Given the description of an element on the screen output the (x, y) to click on. 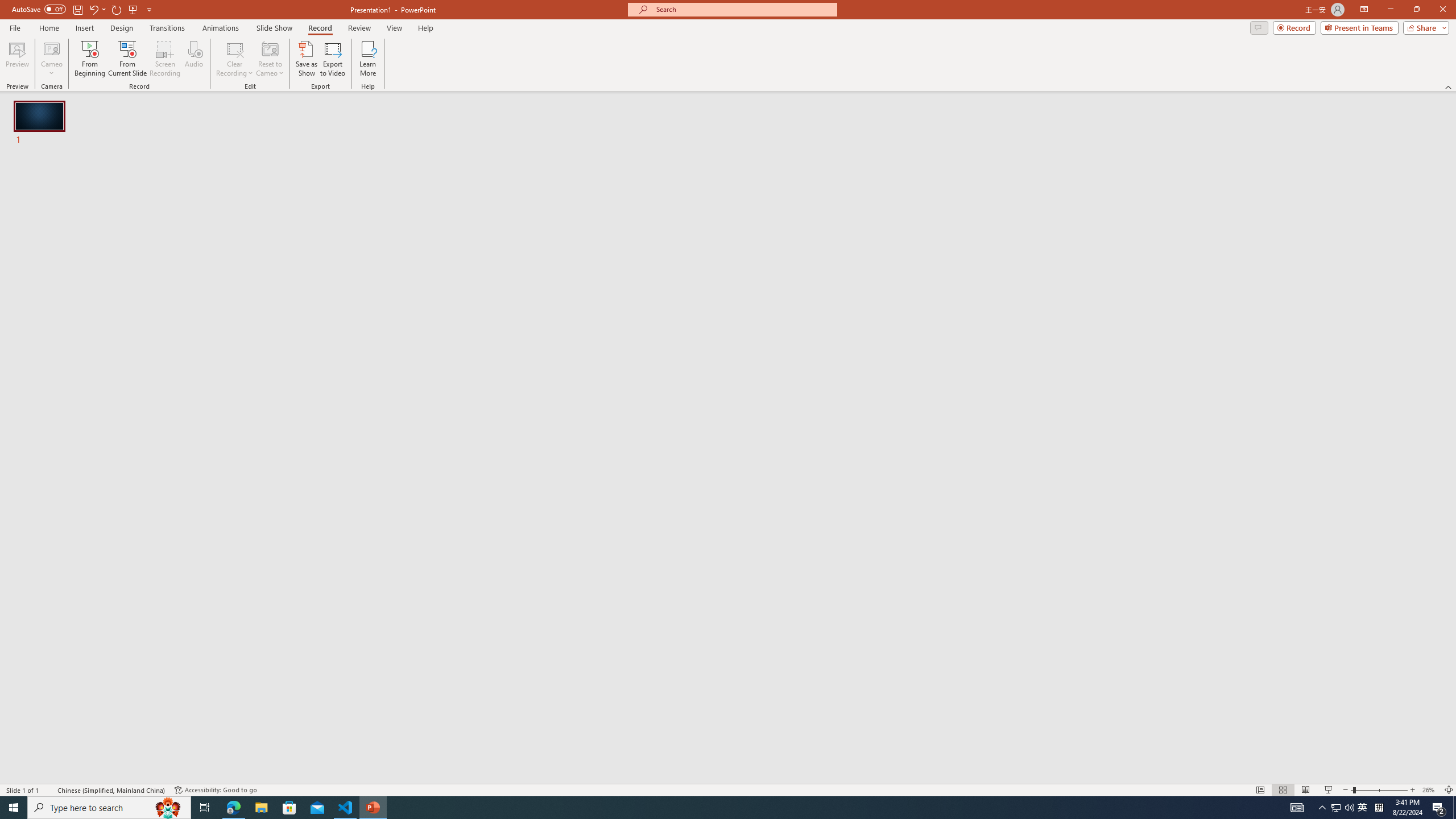
Spell Check  (49, 790)
Export to Video (332, 58)
Screen Recording (165, 58)
Share (1423, 27)
Present in Teams (1359, 27)
Cameo (51, 58)
Audio (193, 58)
Zoom to Fit  (1449, 790)
View (395, 28)
Minimize (1390, 9)
